Given the description of an element on the screen output the (x, y) to click on. 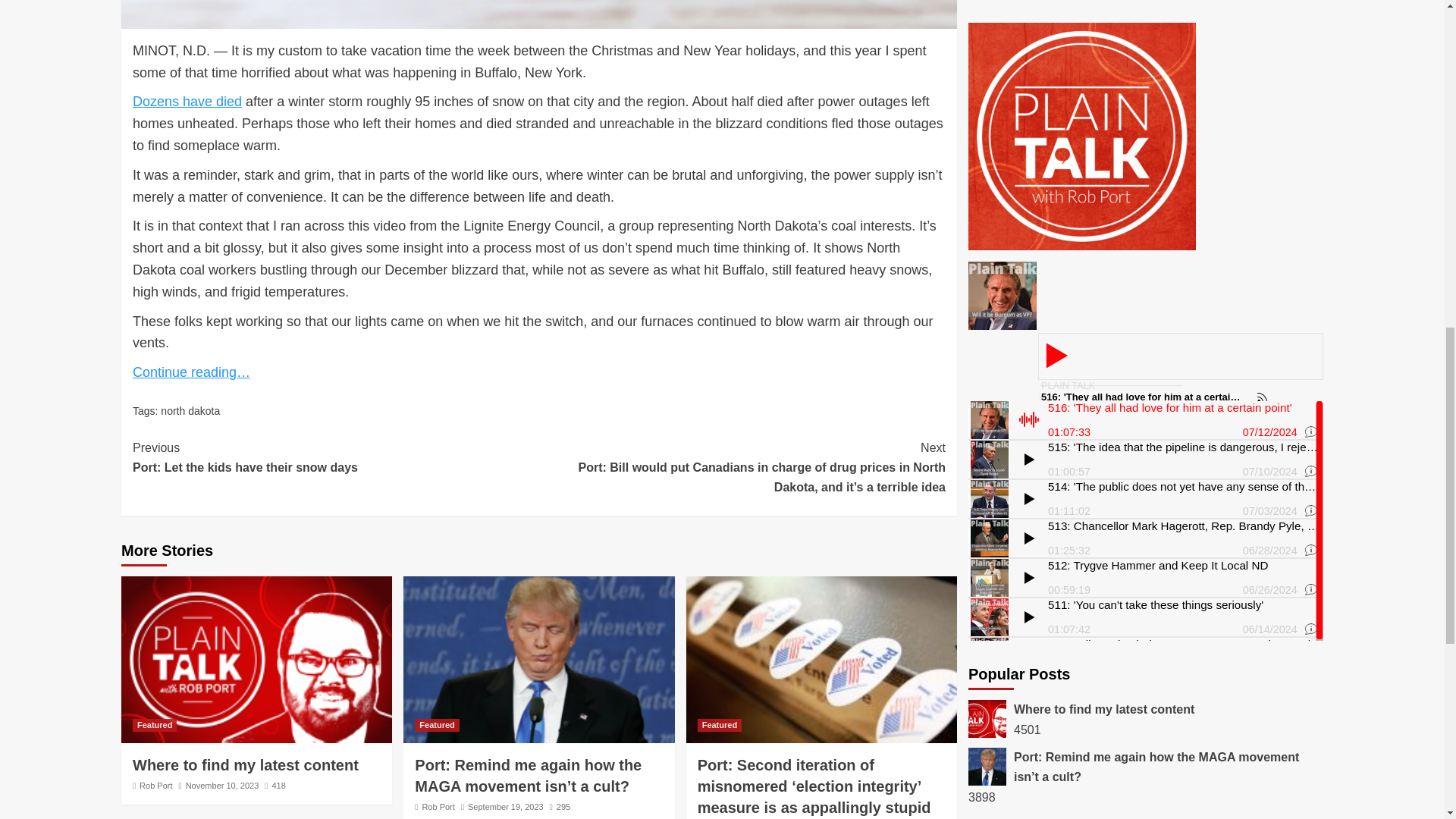
Rob Port (155, 785)
Where to find my latest content (245, 764)
Rob Port (438, 806)
Dozens have died (186, 101)
November 10, 2023 (222, 785)
Featured (335, 457)
418 (154, 725)
Featured (274, 785)
north dakota (436, 725)
